Given the description of an element on the screen output the (x, y) to click on. 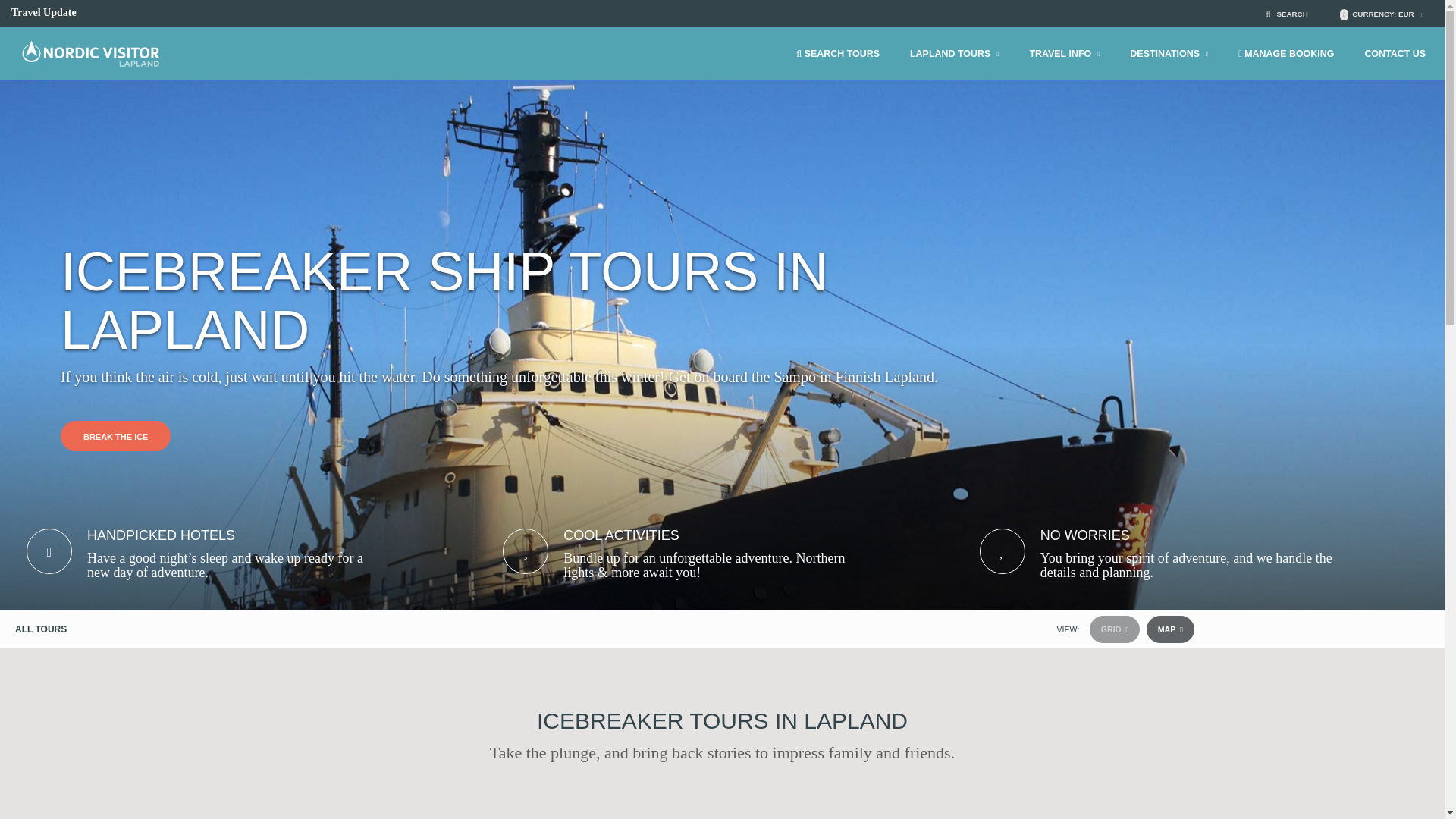
CURRENCY: EUR (1388, 13)
Travel Update (44, 12)
TRAVEL INFO (1063, 47)
SEARCH (1293, 13)
DESTINATIONS (1169, 47)
MANAGE BOOKING (1286, 47)
CONTACT US (1394, 47)
LAPLAND TOURS (954, 47)
